Given the description of an element on the screen output the (x, y) to click on. 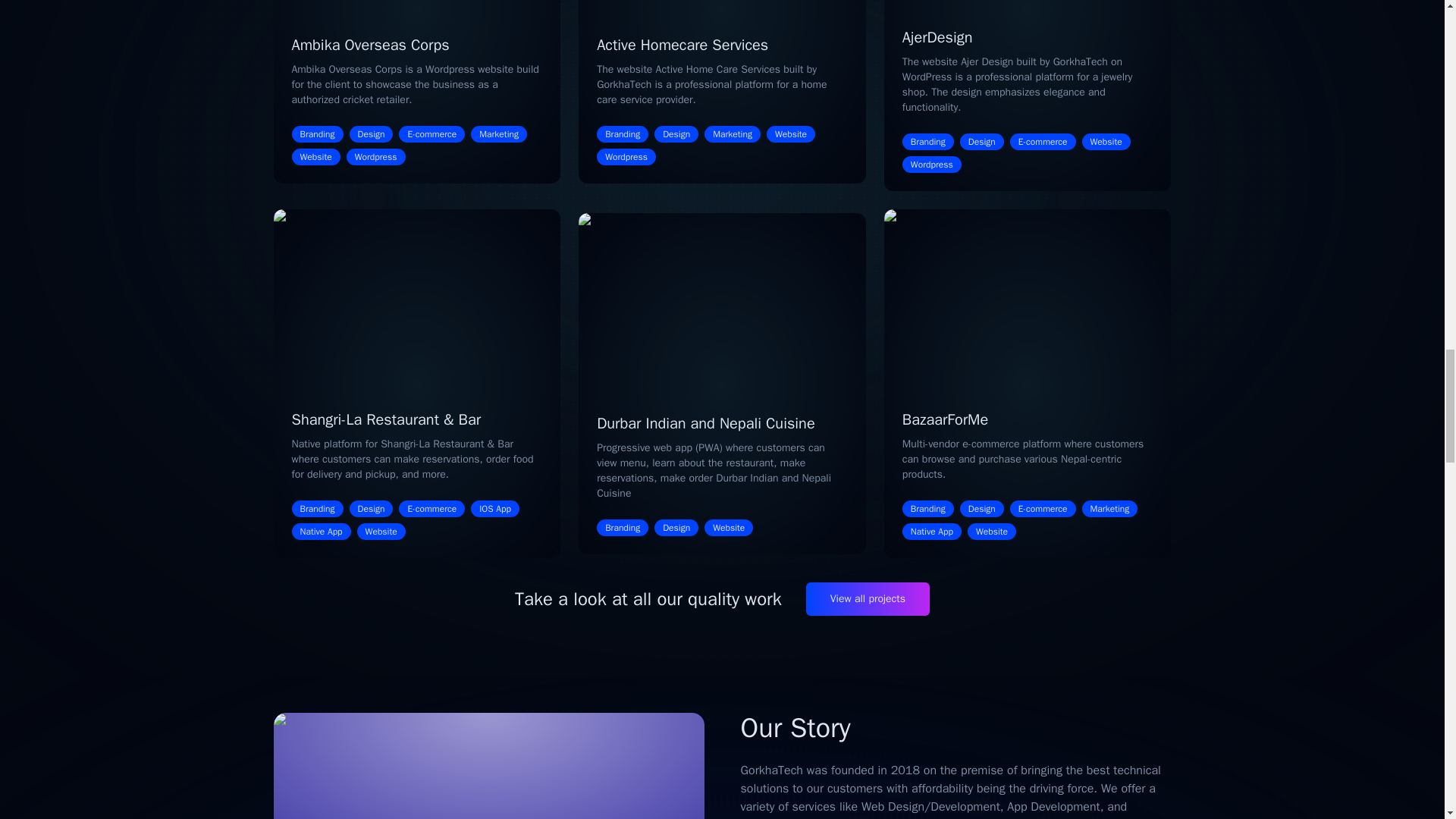
AjerDesign (937, 36)
BazaarForMe (945, 419)
Durbar Indian and Nepali Cuisine (705, 423)
Active Homecare Services (682, 45)
Ambika Overseas Corps (369, 45)
View all projects (868, 598)
